Given the description of an element on the screen output the (x, y) to click on. 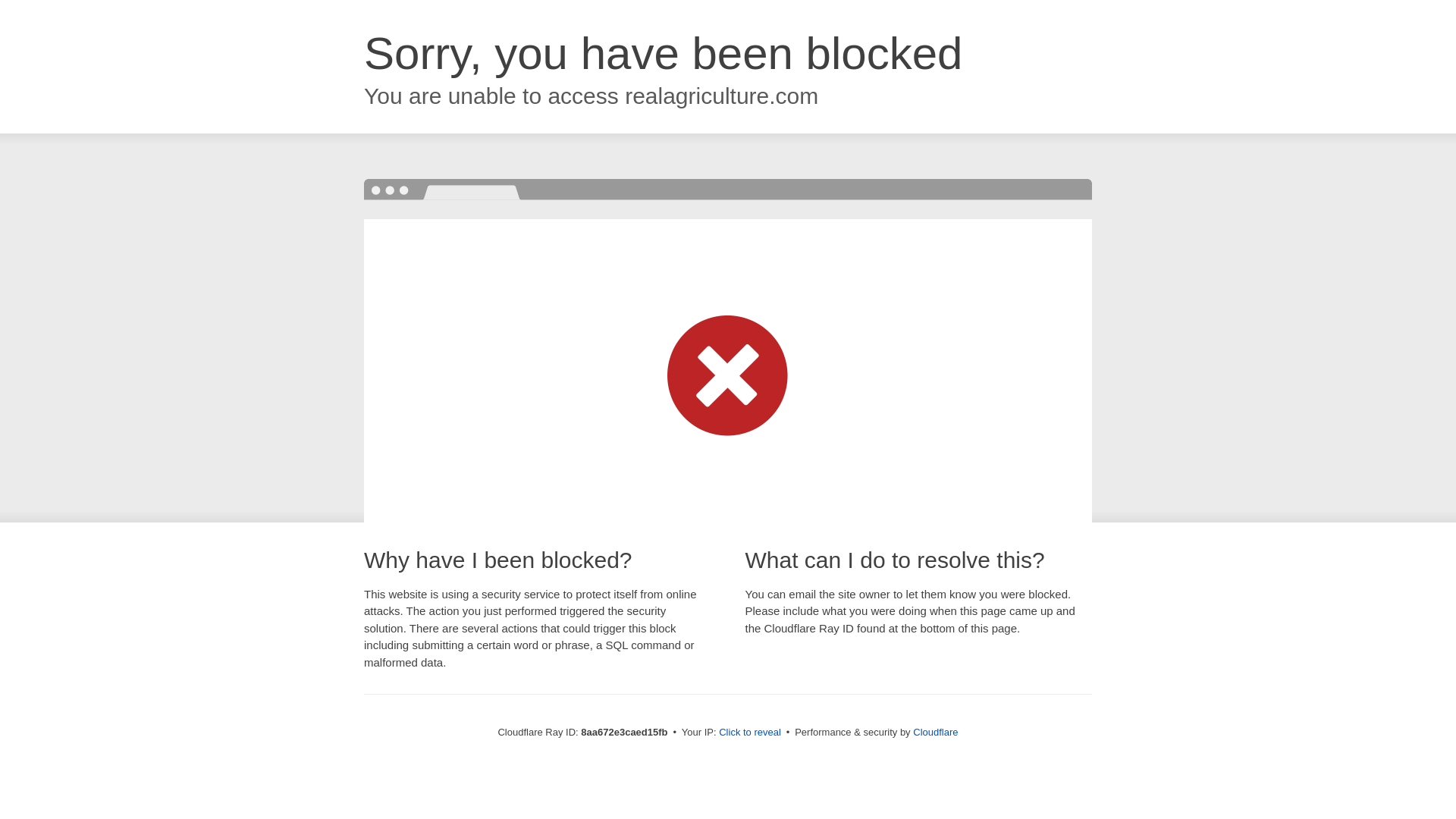
Click to reveal (749, 732)
Cloudflare (935, 731)
